Given the description of an element on the screen output the (x, y) to click on. 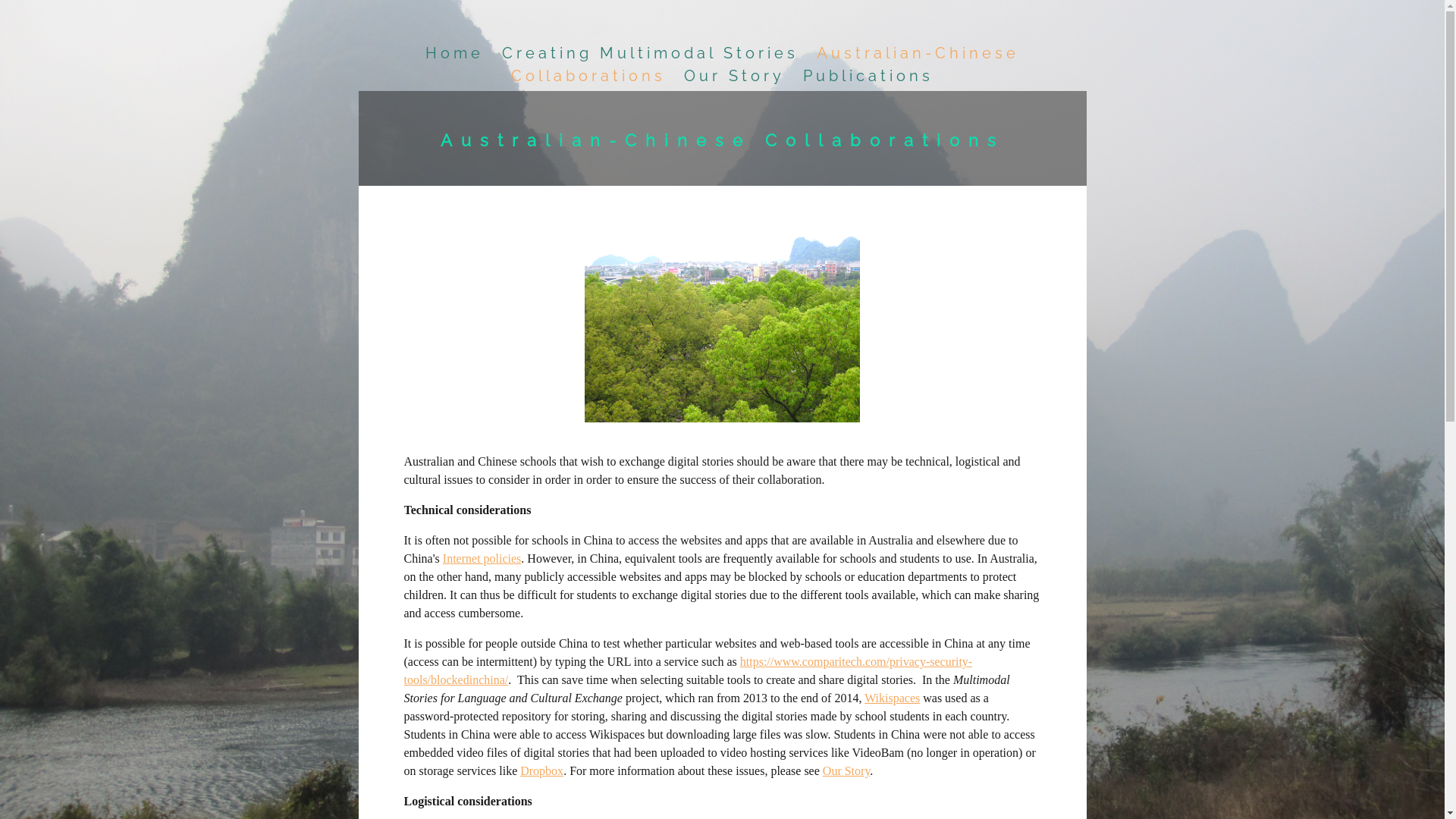
Australian-Chinese Collaborations Element type: text (765, 63)
Publications Element type: text (868, 75)
Australian-Chinese Collaborations Element type: text (721, 140)
Internet policies Element type: text (481, 558)
Wikispaces Element type: text (891, 697)
Our Story Element type: text (846, 770)
Dropbox Element type: text (541, 770)
Creating Multimodal Stories Element type: text (650, 52)
Home Element type: text (454, 52)
Our Story Element type: text (734, 75)
